Given the description of an element on the screen output the (x, y) to click on. 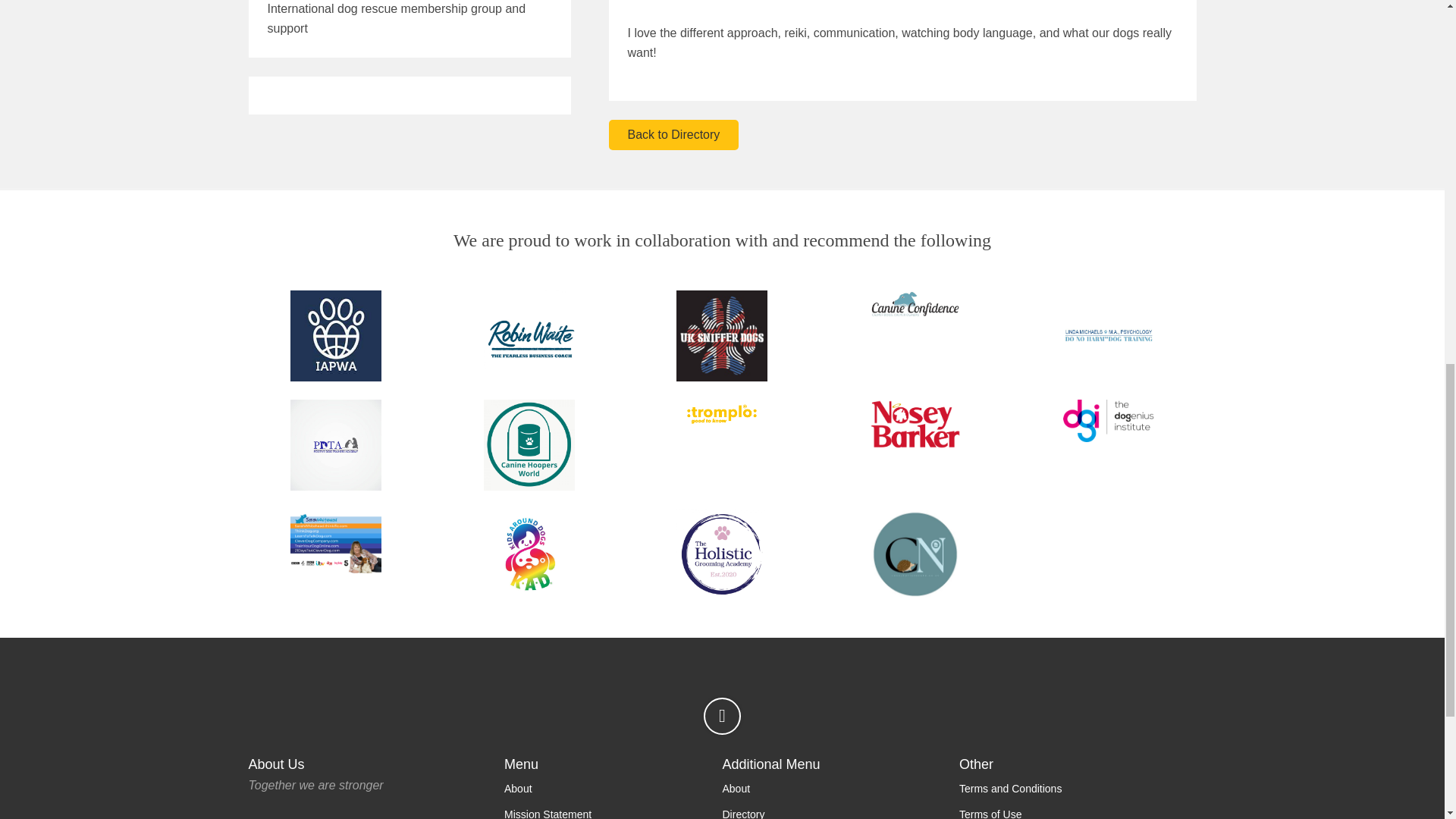
IAPWA (335, 335)
Directory (743, 813)
Sarah Whitehead  (335, 540)
Canine Hoopers World (528, 444)
Canine Confidence (915, 303)
Positive Dog Training Academy (335, 444)
Robin Waite  (528, 335)
About (735, 788)
Tromplo (721, 413)
About (517, 788)
